Given the description of an element on the screen output the (x, y) to click on. 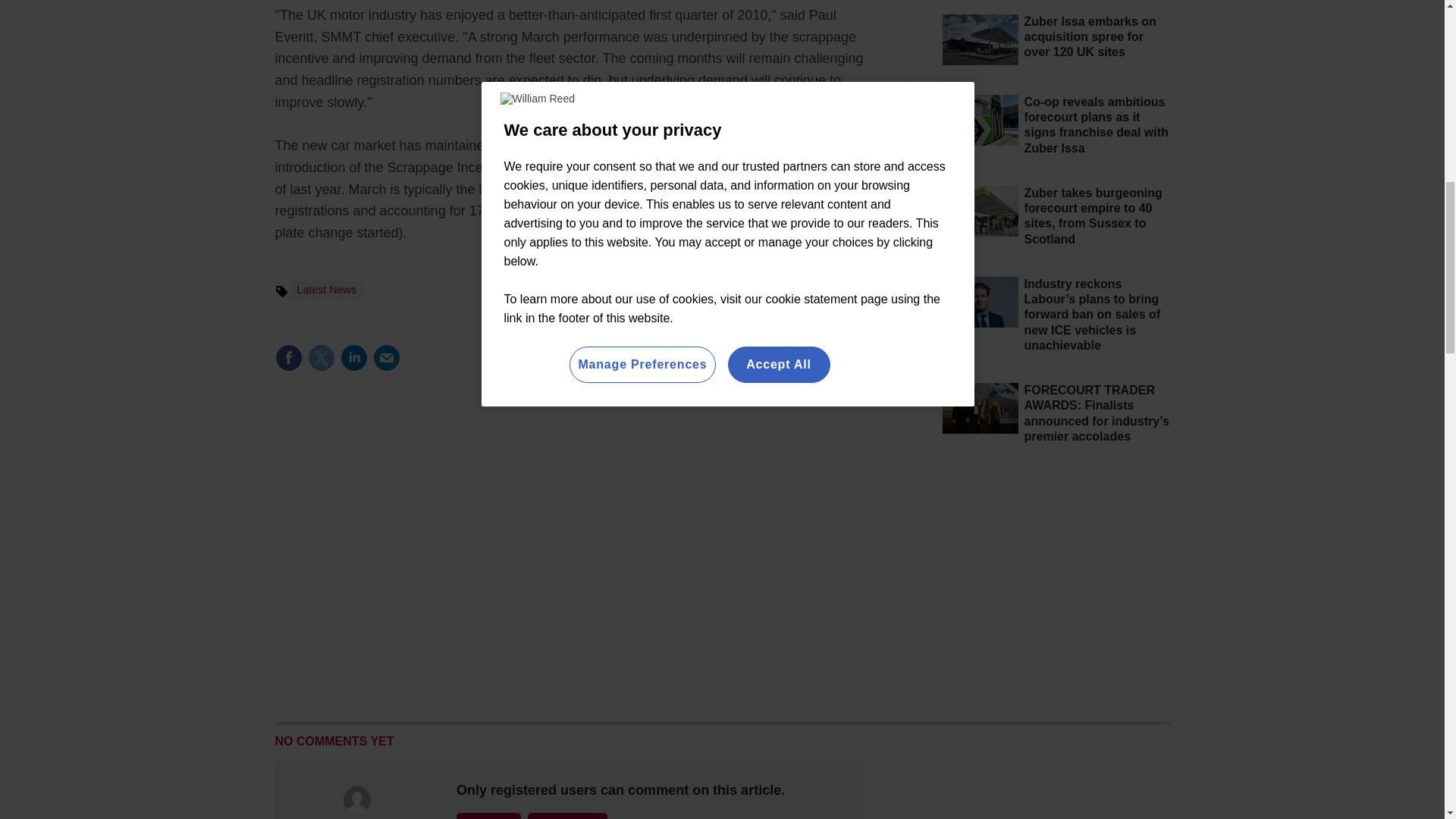
3rd party ad content (1055, 590)
Share this on Facebook (288, 357)
No comments (812, 366)
Share this on Twitter (320, 357)
Share this on Linked in (352, 357)
Email this article (386, 357)
